Given the description of an element on the screen output the (x, y) to click on. 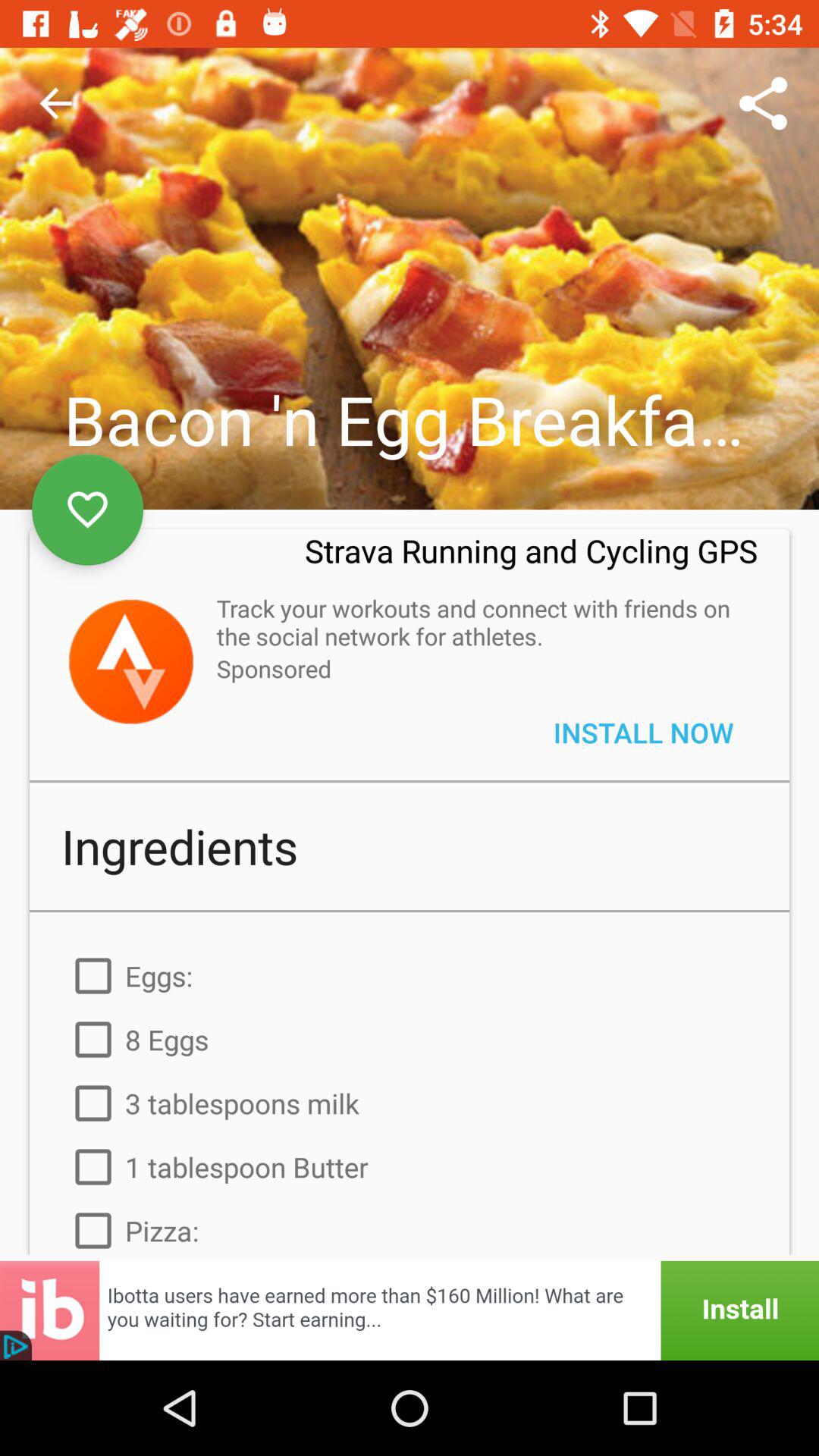
launch item above the pizza:  icon (409, 1166)
